Given the description of an element on the screen output the (x, y) to click on. 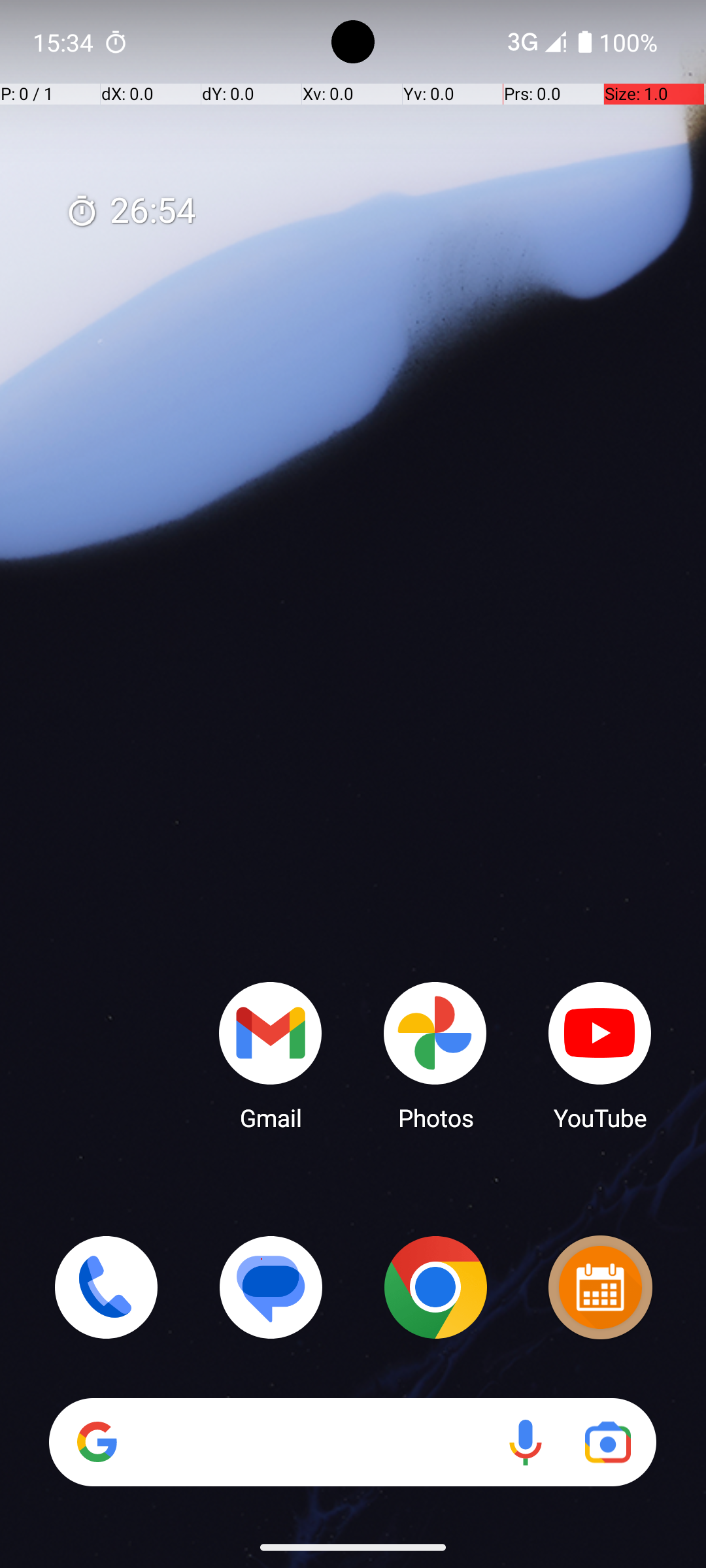
26:54 Element type: android.widget.TextView (130, 210)
